Given the description of an element on the screen output the (x, y) to click on. 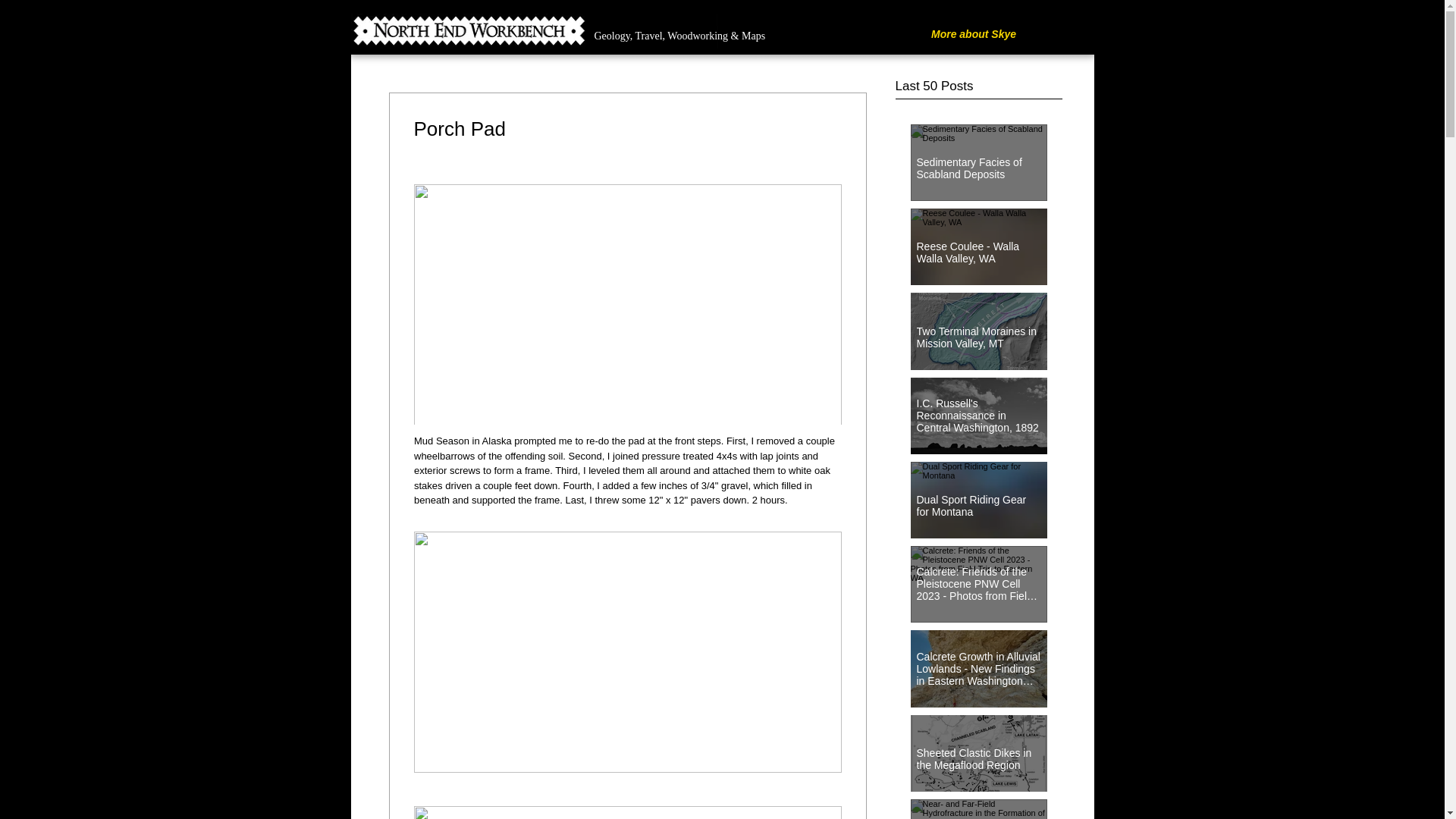
Two Terminal Moraines in Mission Valley, MT (978, 330)
Dual Sport Riding Gear for Montana (978, 498)
Sheeted Clastic Dikes in the Megaflood Region (978, 752)
NORTHENDWORKBENCH-blog-header-image22.jpg (533, 30)
Reese Coulee - Walla Walla Valley, WA (978, 245)
More about Skye (973, 34)
Sedimentary Facies of Scabland Deposits (978, 161)
I.C. Russell's Reconnaissance in Central Washington, 1892 (978, 409)
